Given the description of an element on the screen output the (x, y) to click on. 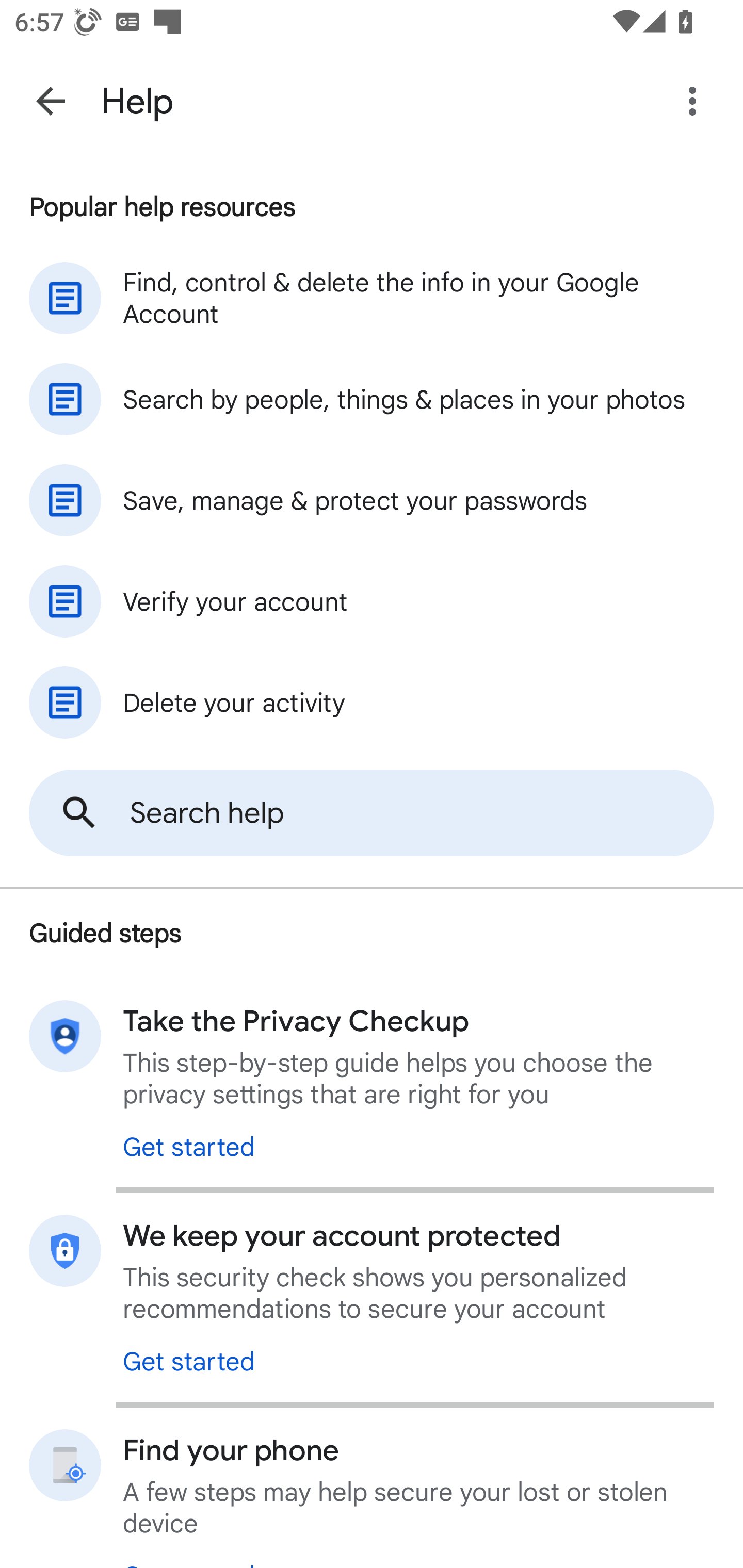
Navigate up (50, 101)
More options (696, 101)
Search by people, things & places in your photos (371, 399)
Save, manage & protect your passwords (371, 500)
Verify your account (371, 601)
Delete your activity (371, 702)
Search help (371, 812)
